Given the description of an element on the screen output the (x, y) to click on. 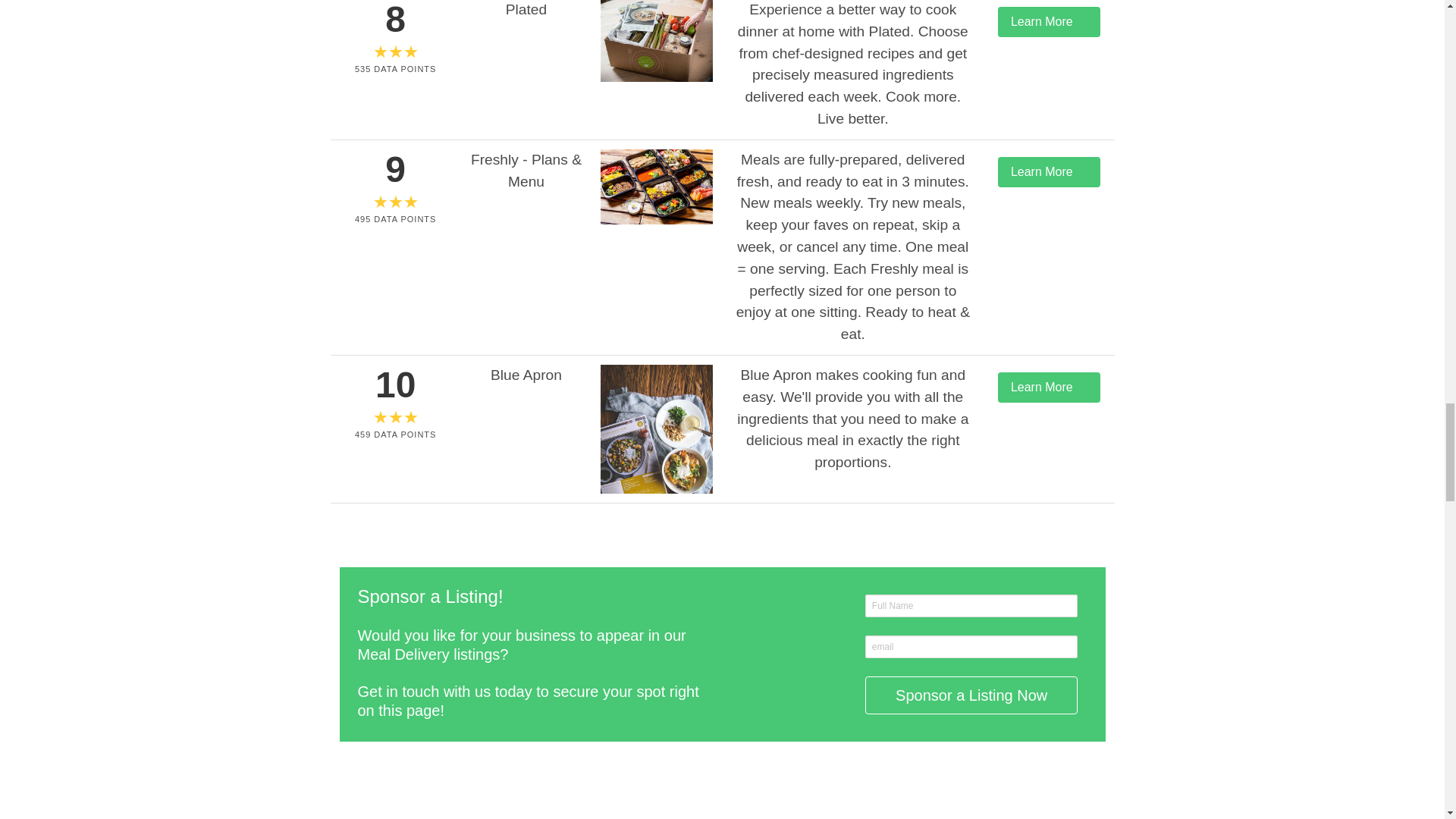
Learn More (1048, 21)
Learn More (1048, 172)
Sponsor a Listing Now (971, 695)
Learn More (1048, 387)
